Given the description of an element on the screen output the (x, y) to click on. 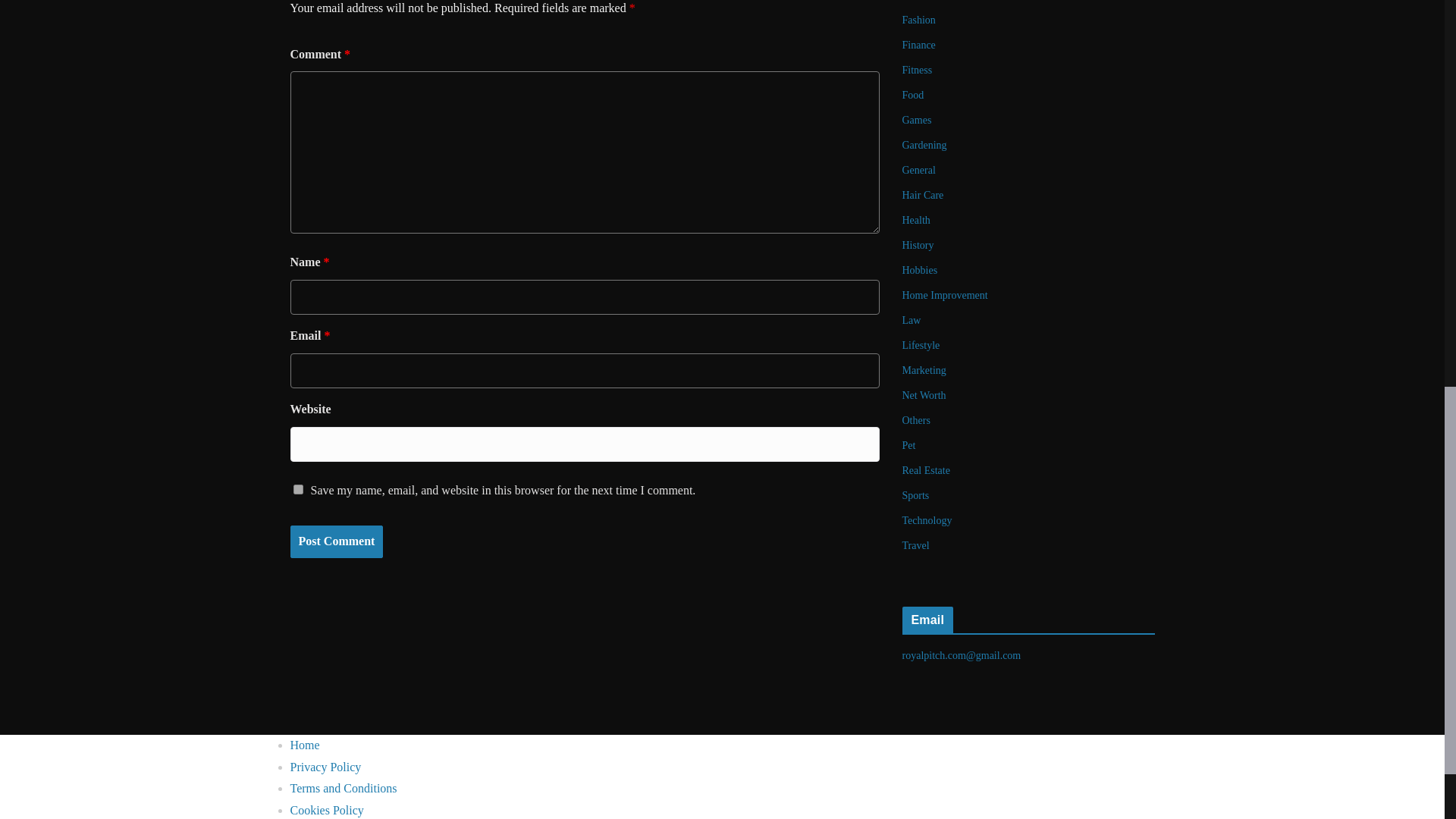
History (918, 244)
Fashion (919, 19)
Entertainment (932, 0)
Fitness (917, 70)
Post Comment (335, 541)
yes (297, 488)
Hair Care (922, 194)
Games (916, 120)
General (919, 170)
Health (916, 220)
